Given the description of an element on the screen output the (x, y) to click on. 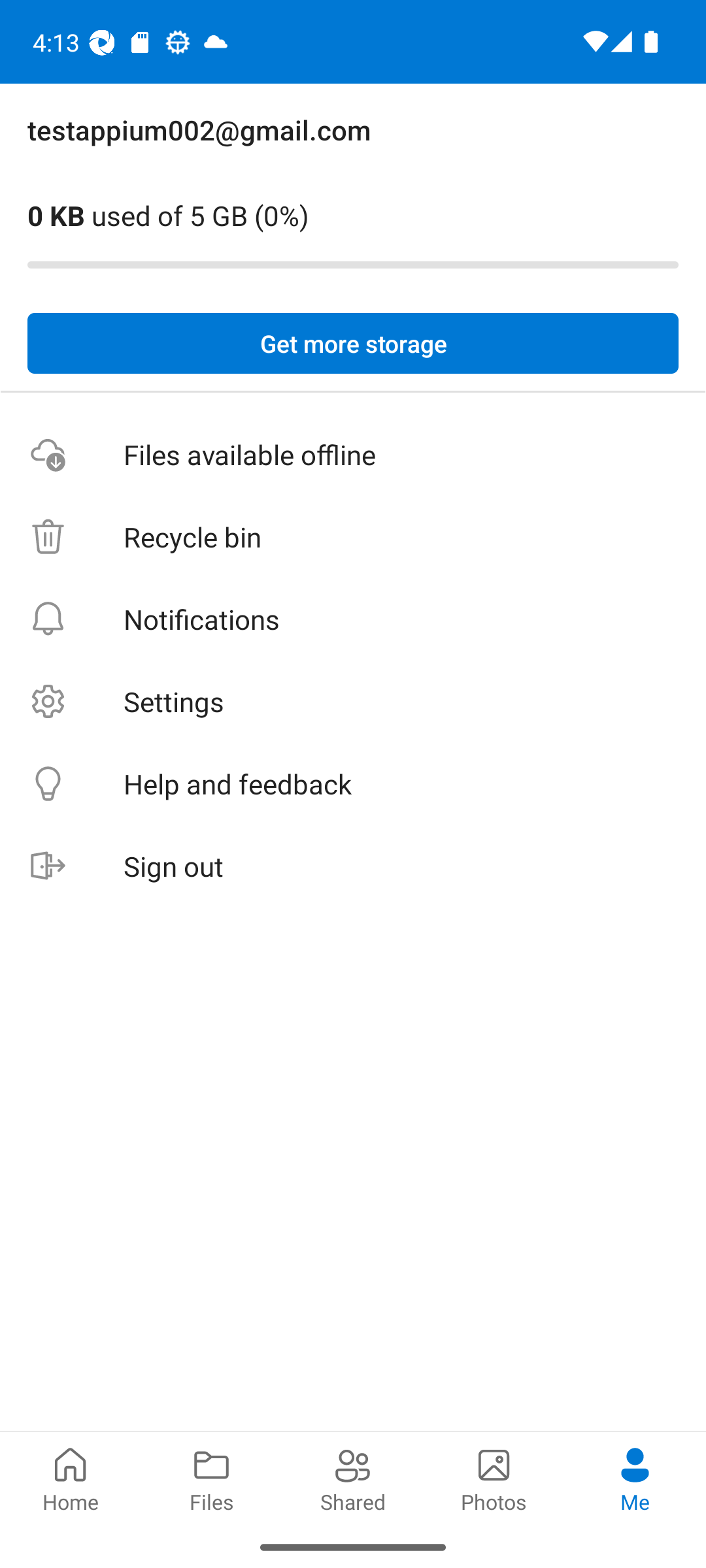
Get more storage (352, 343)
Files available offline (353, 454)
Recycle bin (353, 536)
Notifications (353, 619)
Settings (353, 701)
Help and feedback (353, 783)
Sign out (353, 865)
Home pivot Home (70, 1478)
Files pivot Files (211, 1478)
Shared pivot Shared (352, 1478)
Photos pivot Photos (493, 1478)
